Given the description of an element on the screen output the (x, y) to click on. 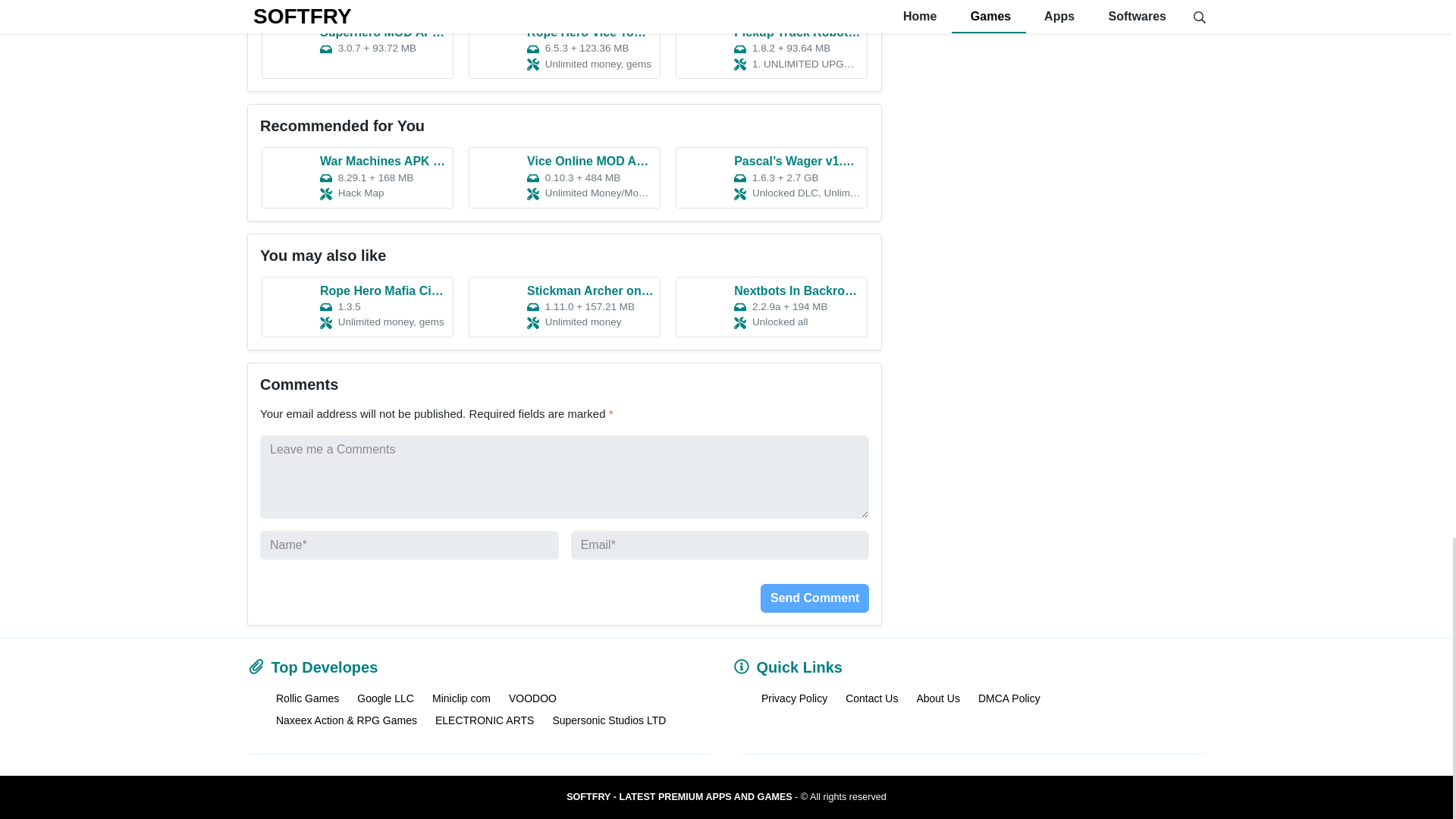
Send Comment (814, 597)
